Given the description of an element on the screen output the (x, y) to click on. 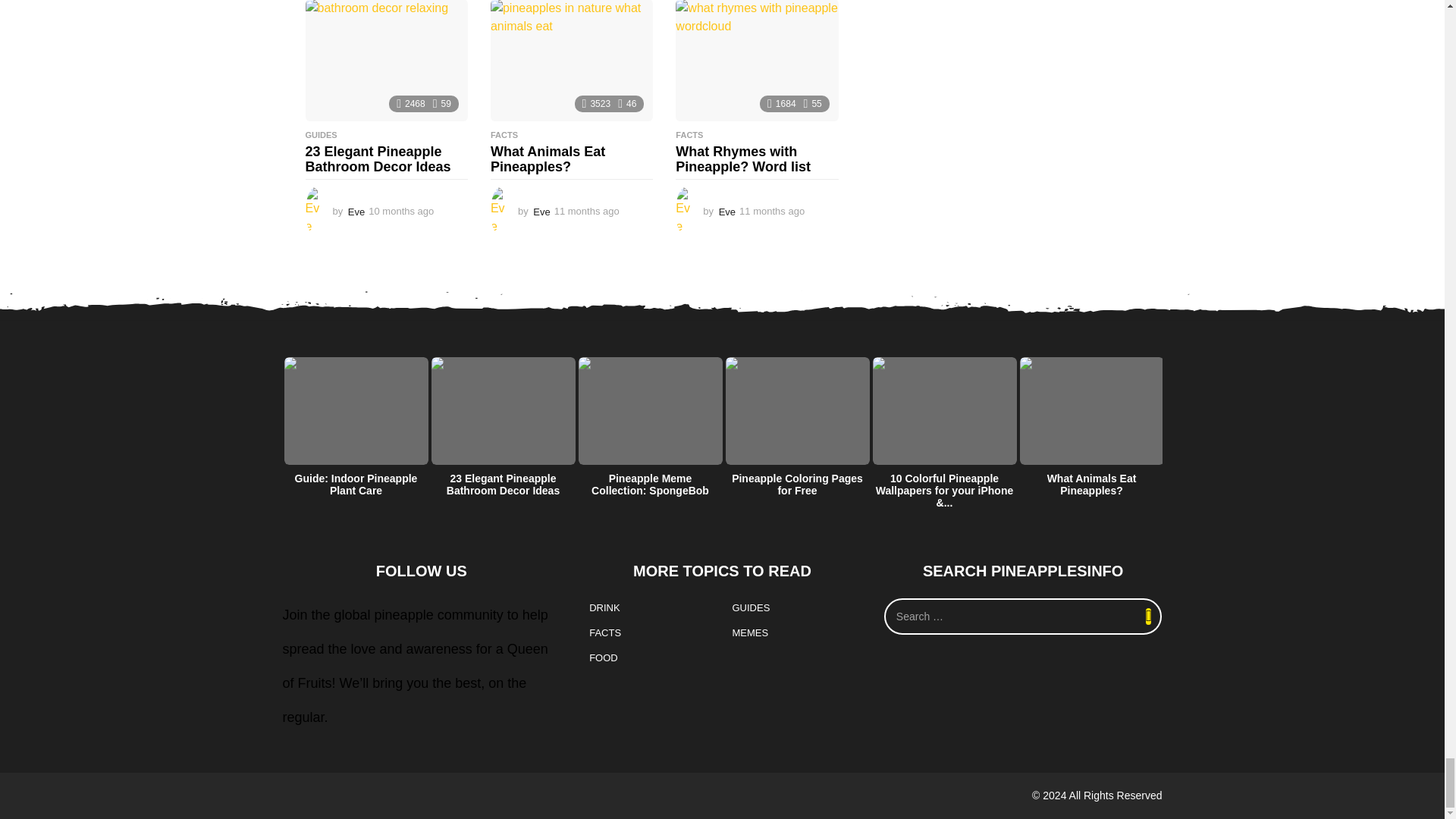
What Rhymes with Pineapple? Word list (756, 60)
What Animals Eat Pineapples? (571, 60)
23 Elegant Pineapple Bathroom Decor Ideas (385, 60)
